Given the description of an element on the screen output the (x, y) to click on. 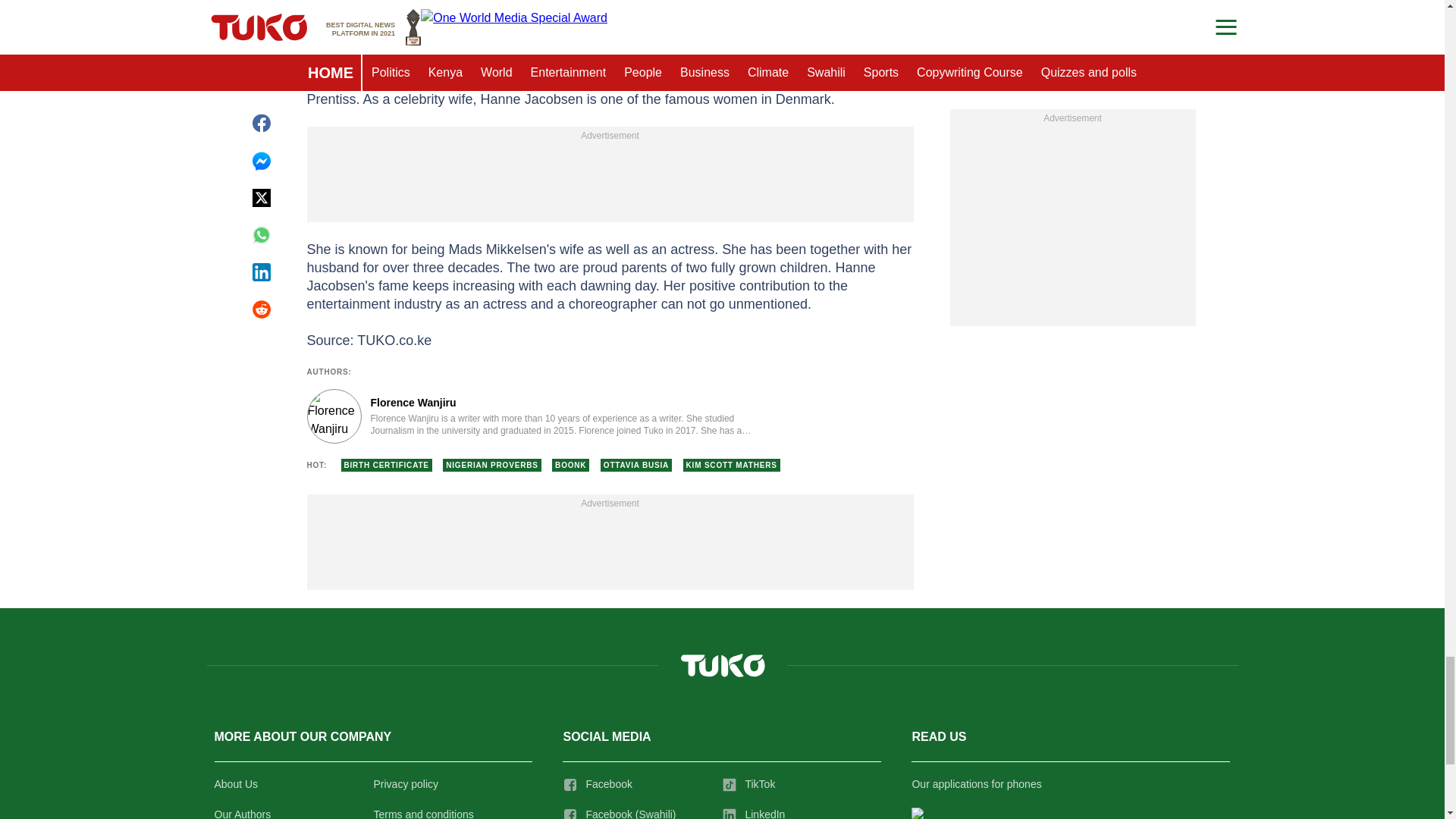
Author page (533, 416)
